Given the description of an element on the screen output the (x, y) to click on. 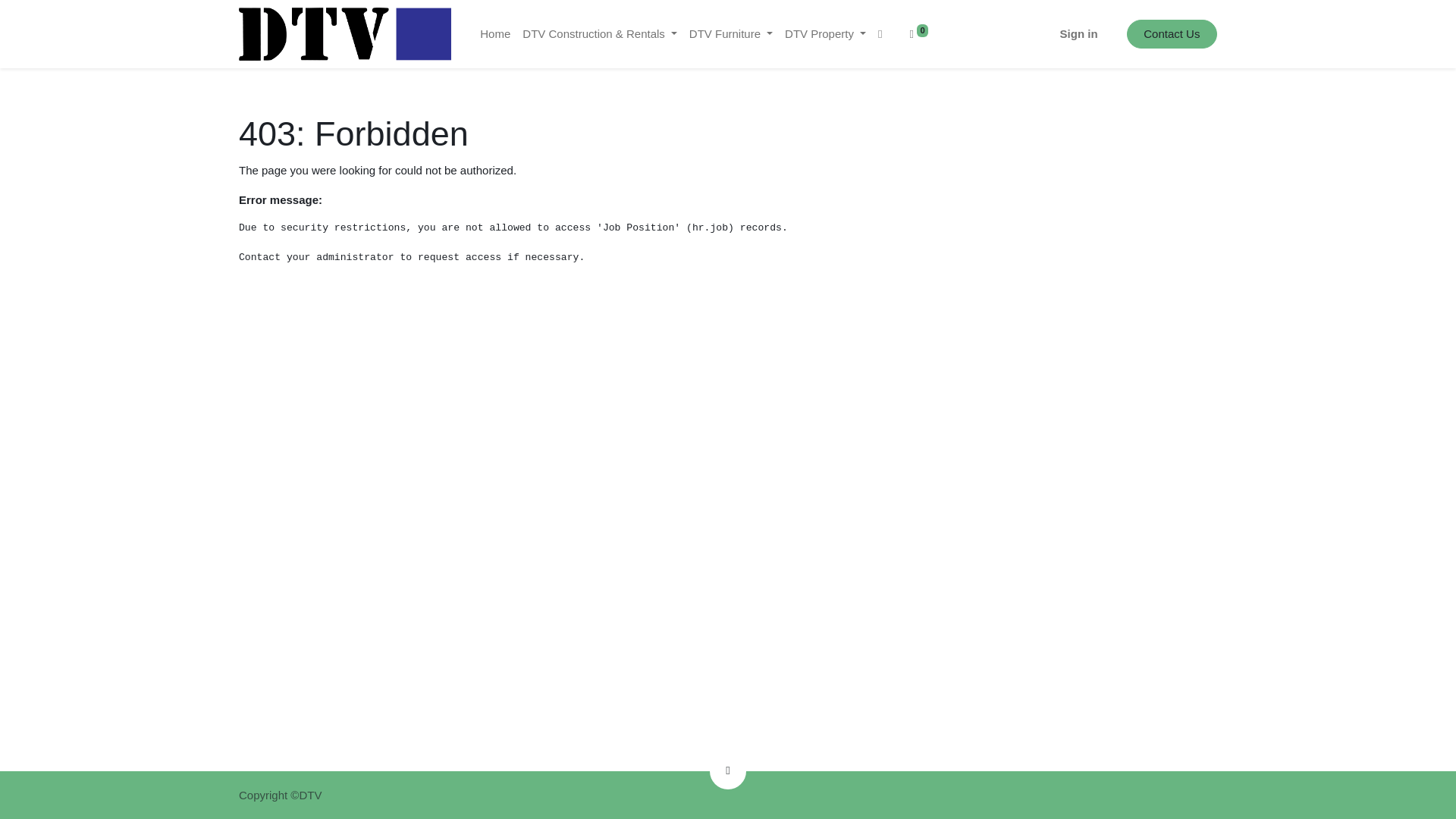
DTV (344, 33)
Home (495, 34)
DTV Furniture (730, 34)
Scroll To Top (727, 770)
0 (918, 34)
DTV Property (825, 34)
Contact Us (1171, 34)
Sign in (1078, 34)
